Given the description of an element on the screen output the (x, y) to click on. 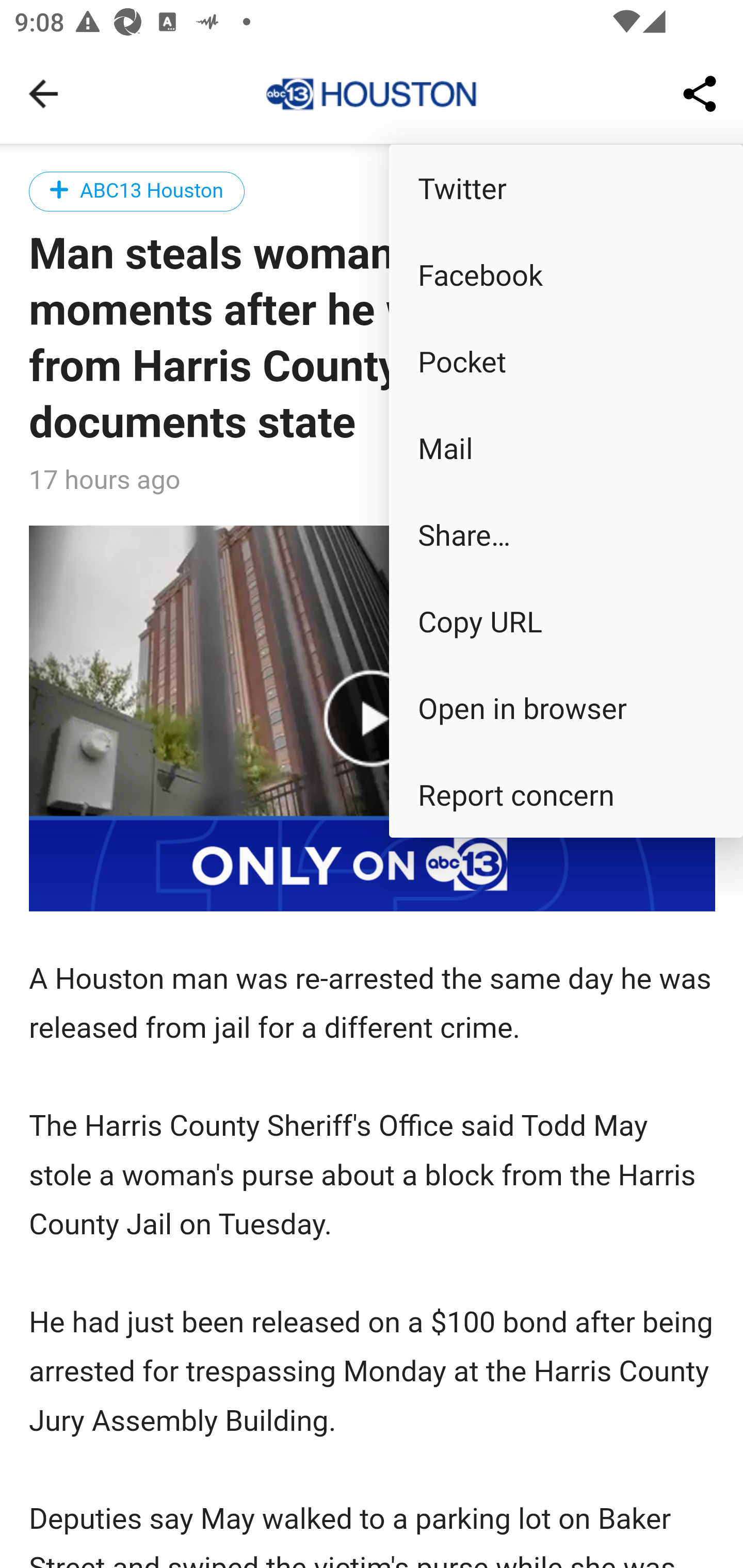
Twitter (566, 187)
Facebook (566, 274)
Pocket (566, 361)
Mail (566, 447)
Share… (566, 533)
Copy URL (566, 620)
Open in browser (566, 707)
Report concern (566, 794)
